Given the description of an element on the screen output the (x, y) to click on. 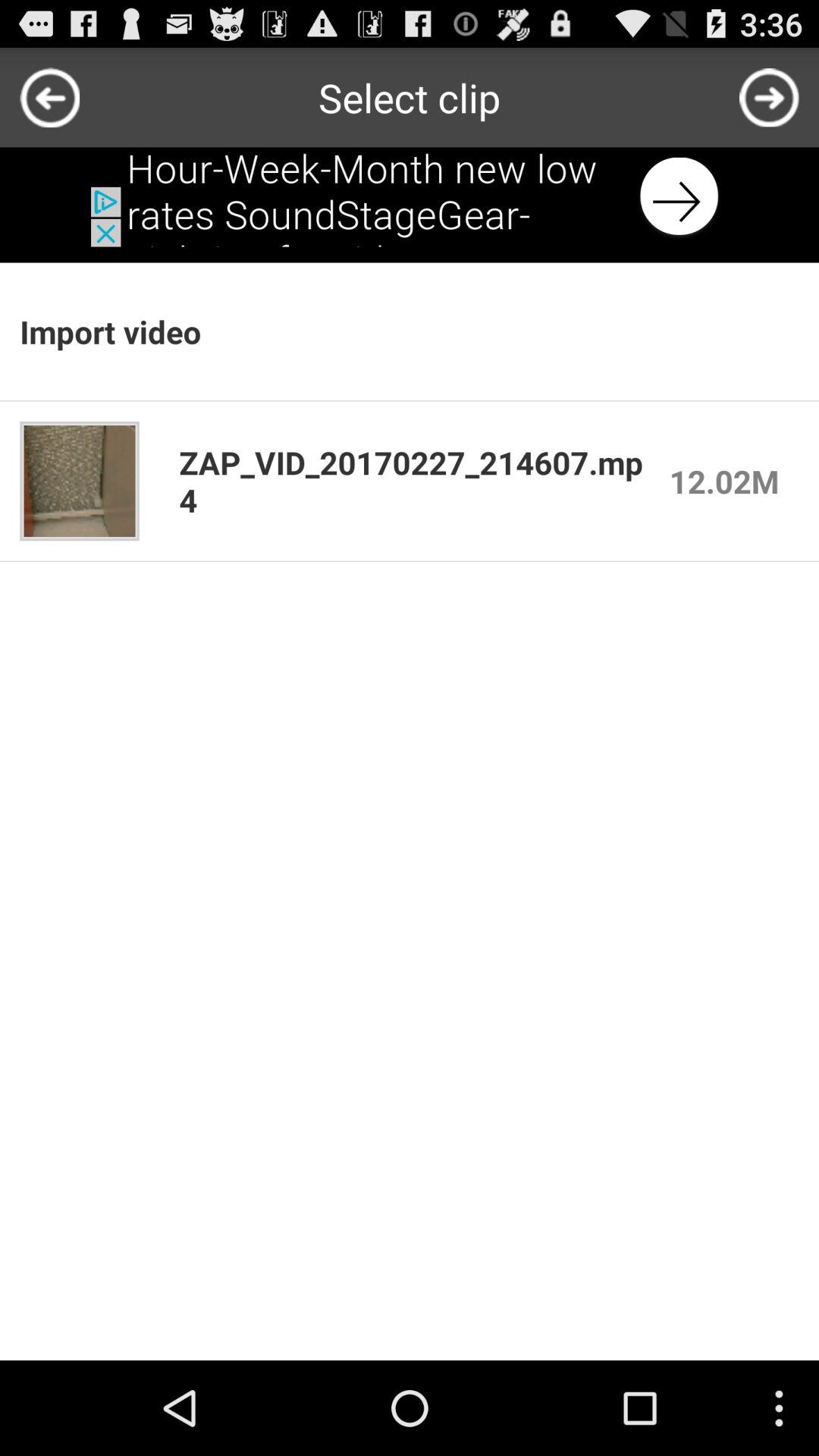
goto back (49, 97)
